Given the description of an element on the screen output the (x, y) to click on. 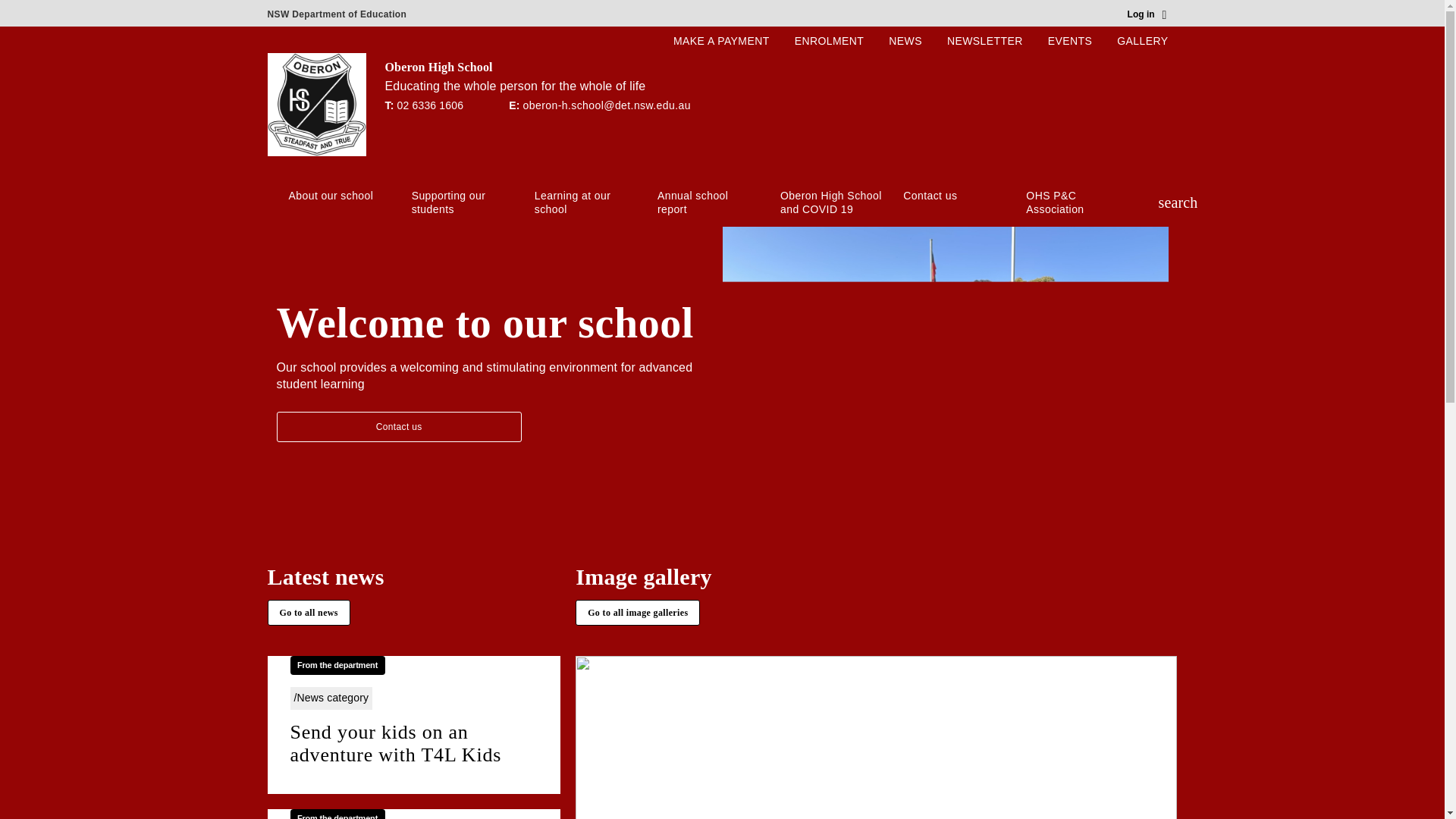
NSW Department of Education (336, 10)
Send your kids on an adventure with T4L Kids (413, 744)
Log in (1146, 14)
